Given the description of an element on the screen output the (x, y) to click on. 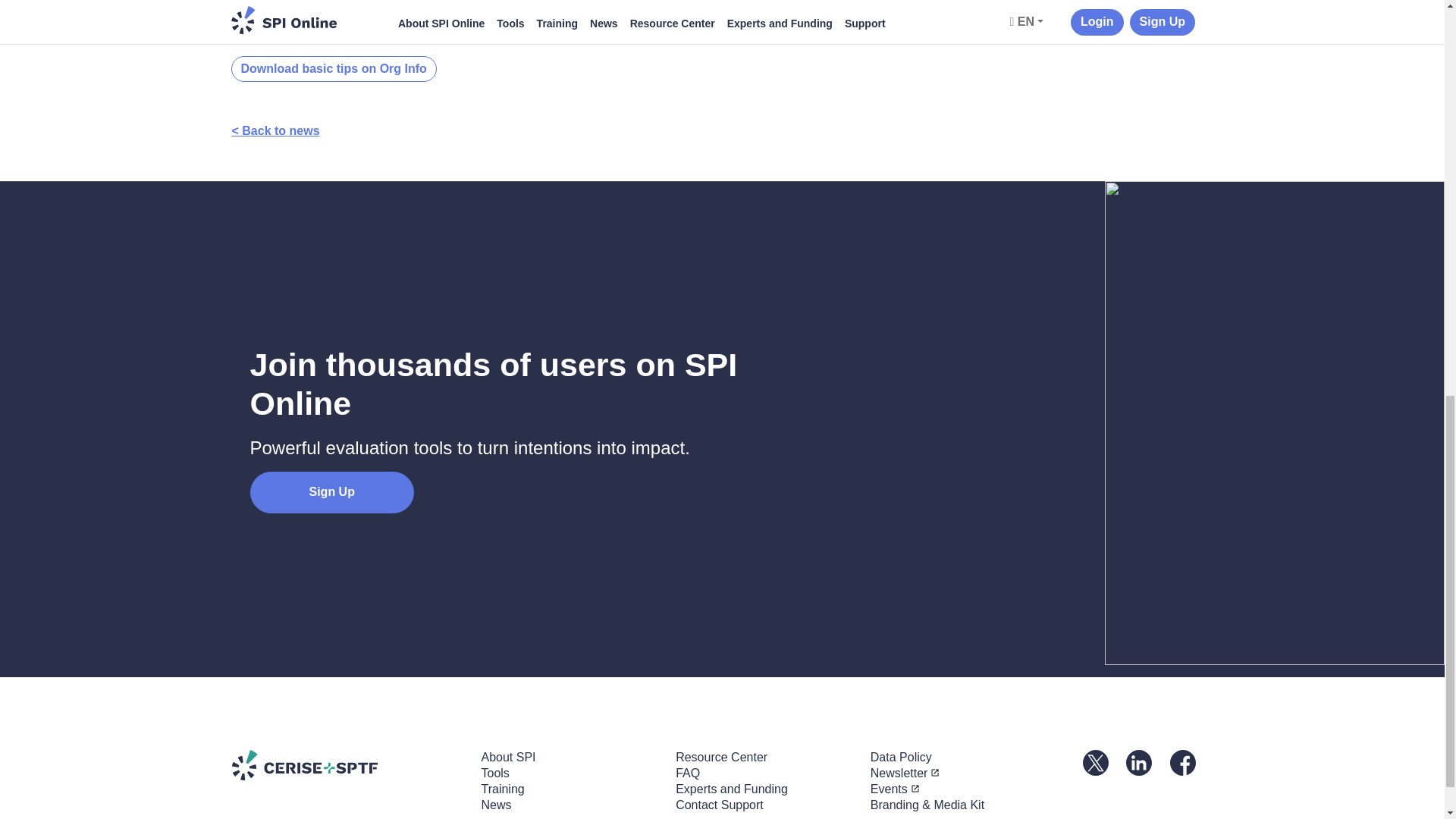
Experts and Funding (731, 788)
Download basic tips on Org Info (332, 69)
News (495, 804)
Contact Support (718, 804)
Sign Up (331, 492)
Newsletter (905, 772)
Open SPTaskForce Twitter page in a new window (1095, 761)
FAQ (687, 772)
Tools (494, 772)
Training (502, 788)
